Given the description of an element on the screen output the (x, y) to click on. 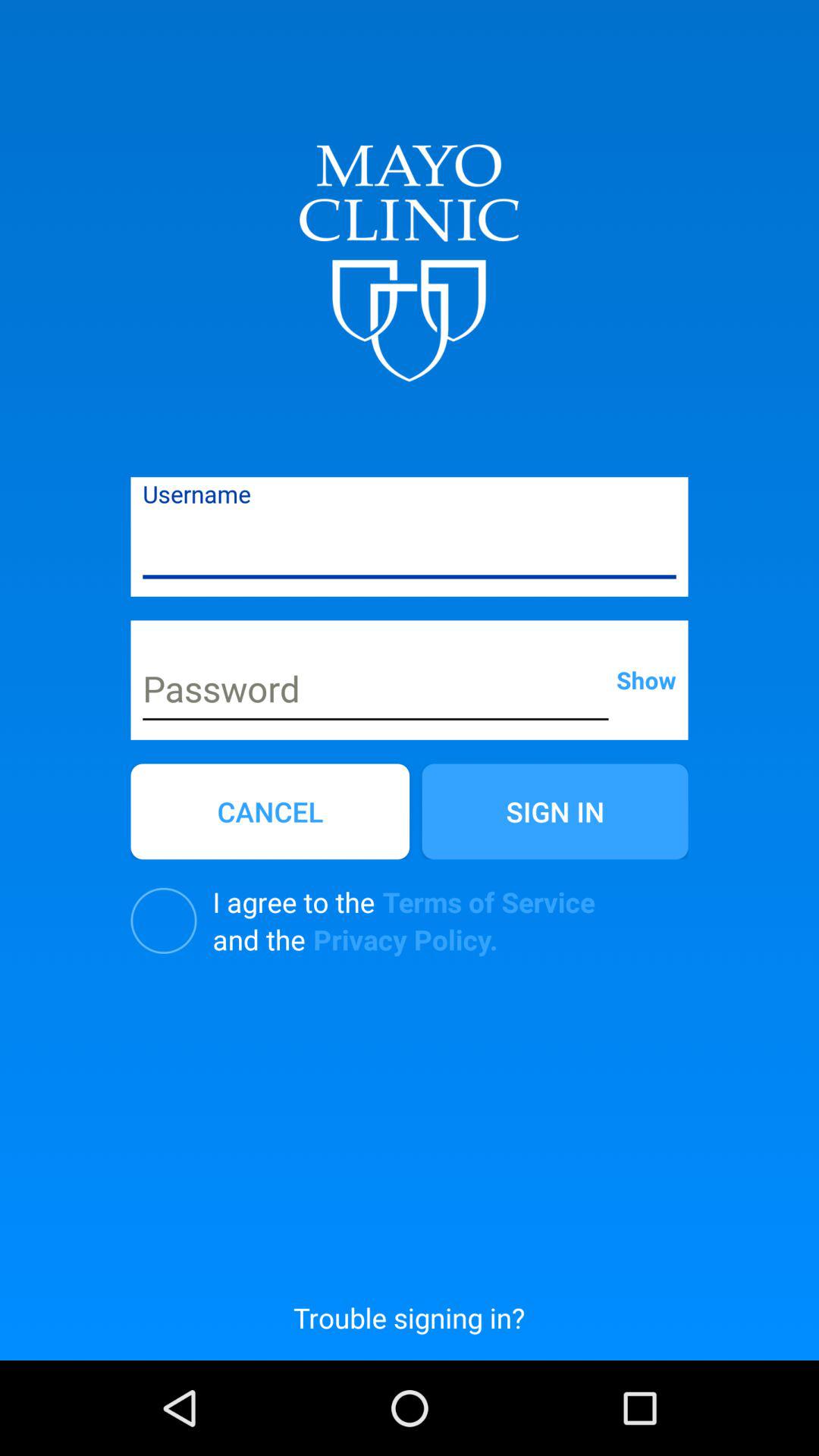
t c agreed icon (163, 920)
